Given the description of an element on the screen output the (x, y) to click on. 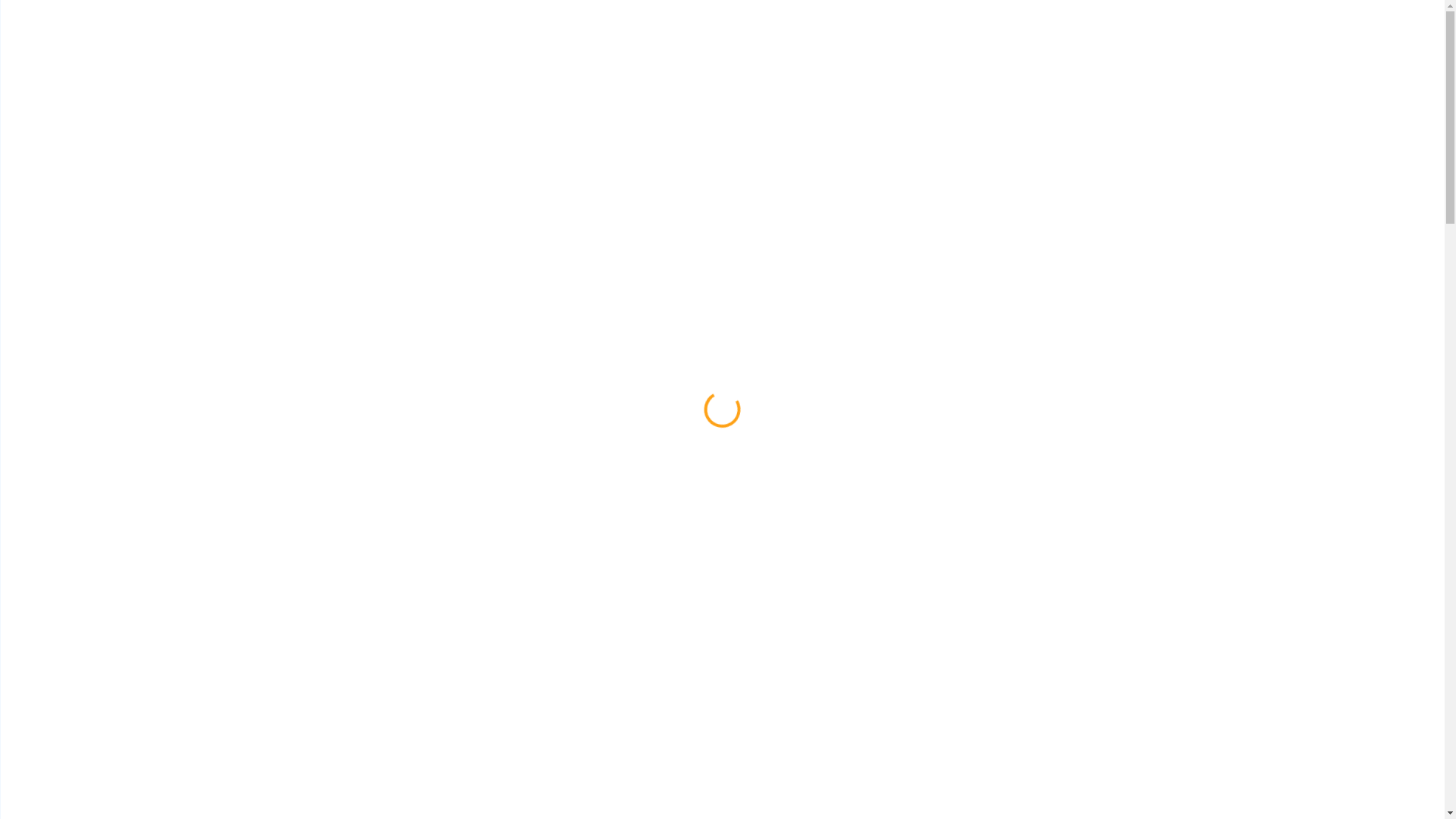
HOME Element type: text (850, 35)
ABOUT Element type: text (903, 35)
BOOK A TABLE Element type: text (320, 451)
Nongkhai Thai Essendon Element type: text (454, 34)
BOOK A TABLE Element type: text (1123, 34)
CONTACT Element type: text (1017, 35)
MENU Element type: text (956, 35)
